Given the description of an element on the screen output the (x, y) to click on. 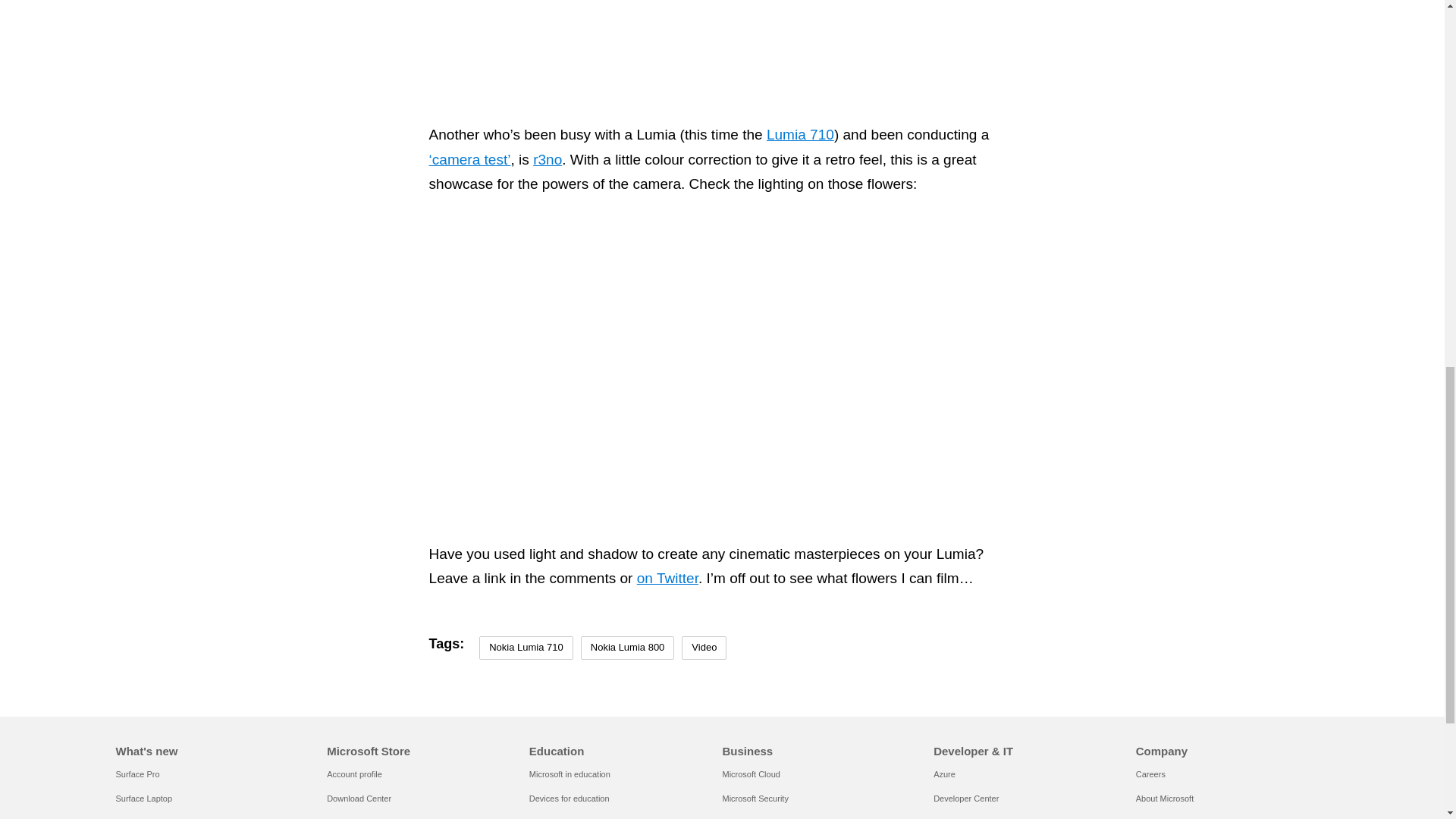
Nokia Lumia 800 Tag (627, 648)
Nokia Lumia 710 Tag (526, 648)
Video Tag (703, 648)
